Given the description of an element on the screen output the (x, y) to click on. 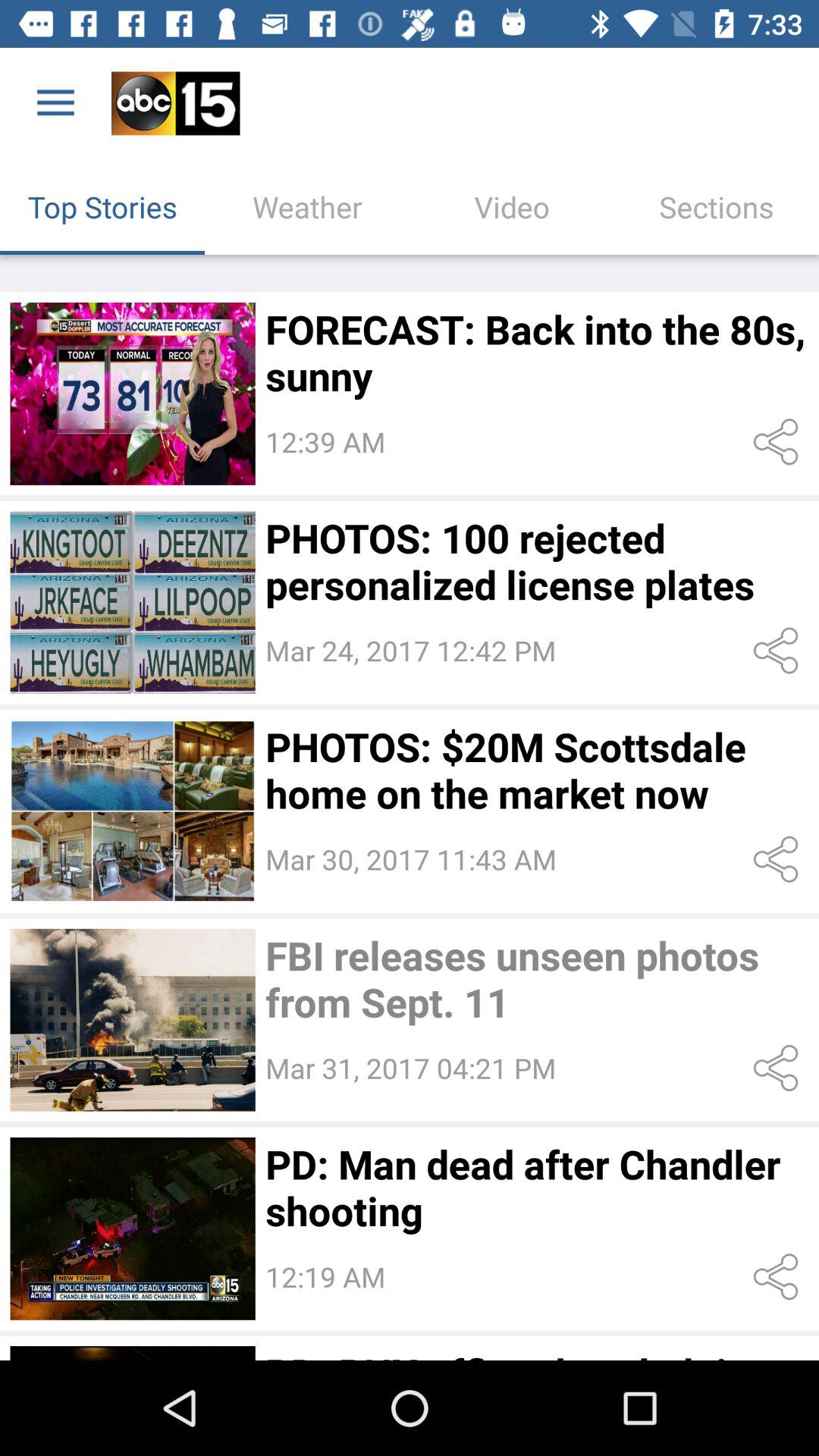
share the article (778, 650)
